Given the description of an element on the screen output the (x, y) to click on. 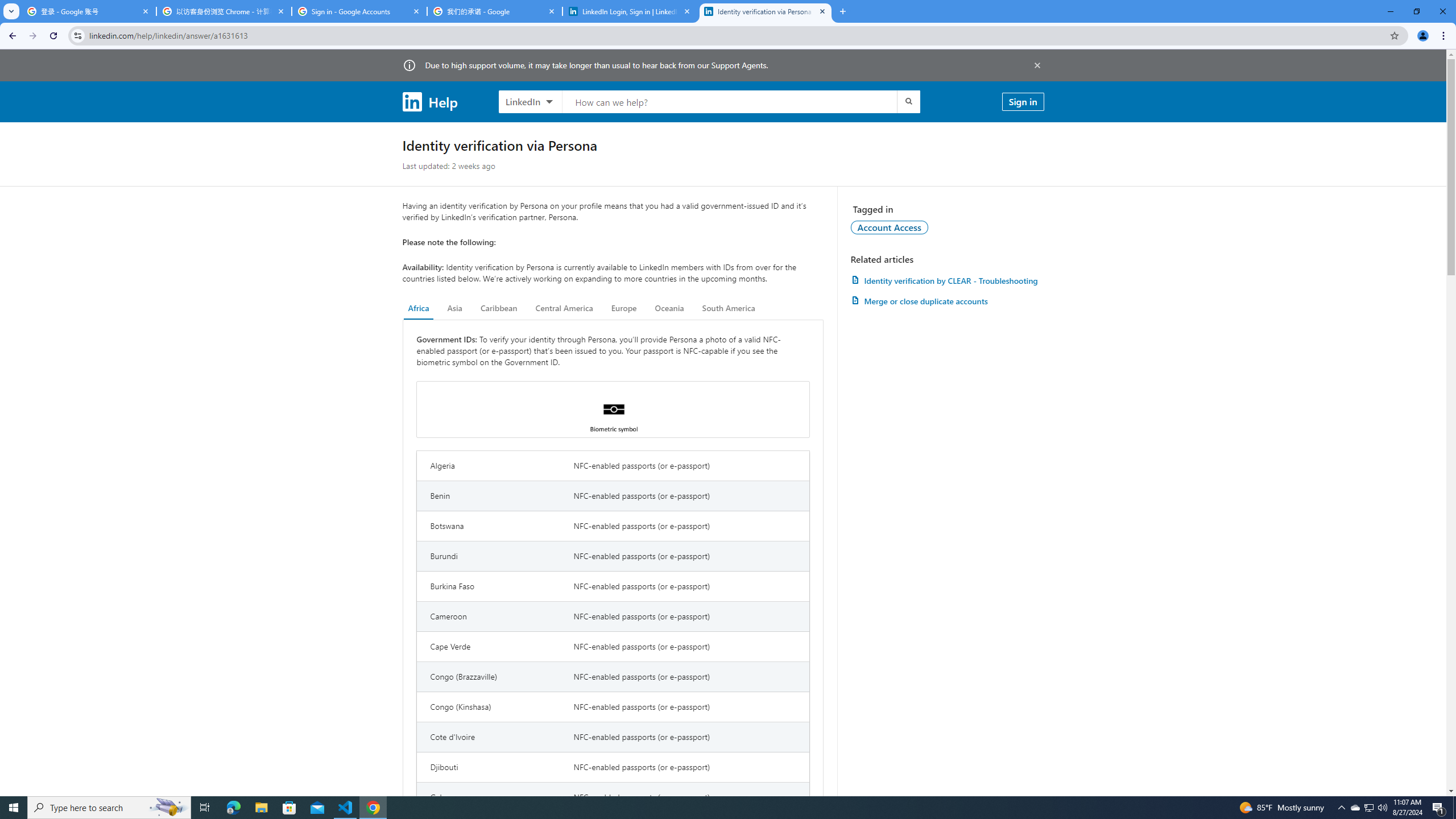
Submit search (908, 101)
Identity verification by CLEAR - Troubleshooting (946, 280)
Sign in - Google Accounts (359, 11)
South America (728, 308)
Asia (454, 308)
Account Access (889, 227)
Central America (563, 308)
